Given the description of an element on the screen output the (x, y) to click on. 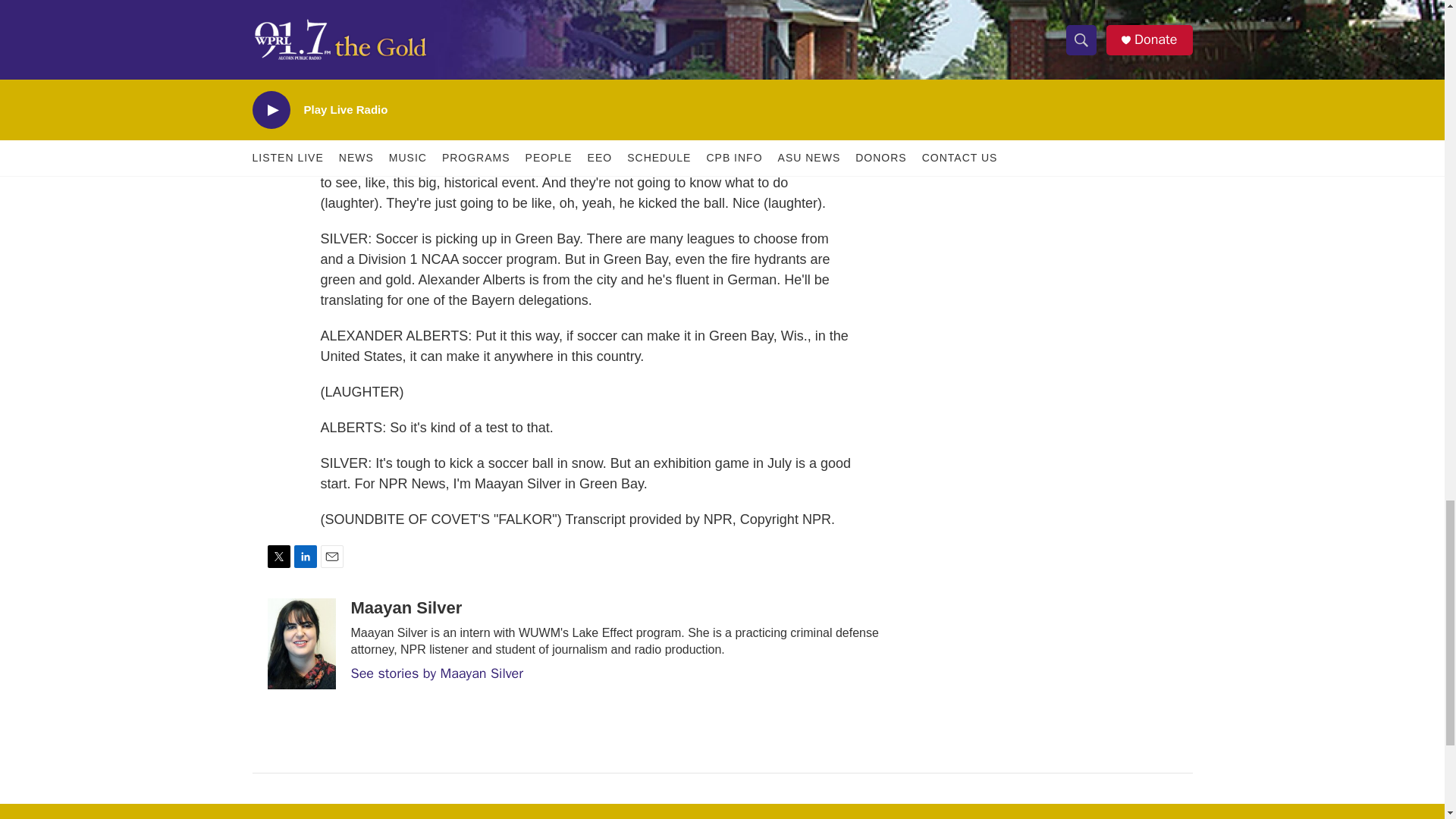
LinkedIn (305, 556)
Twitter (277, 556)
